Given the description of an element on the screen output the (x, y) to click on. 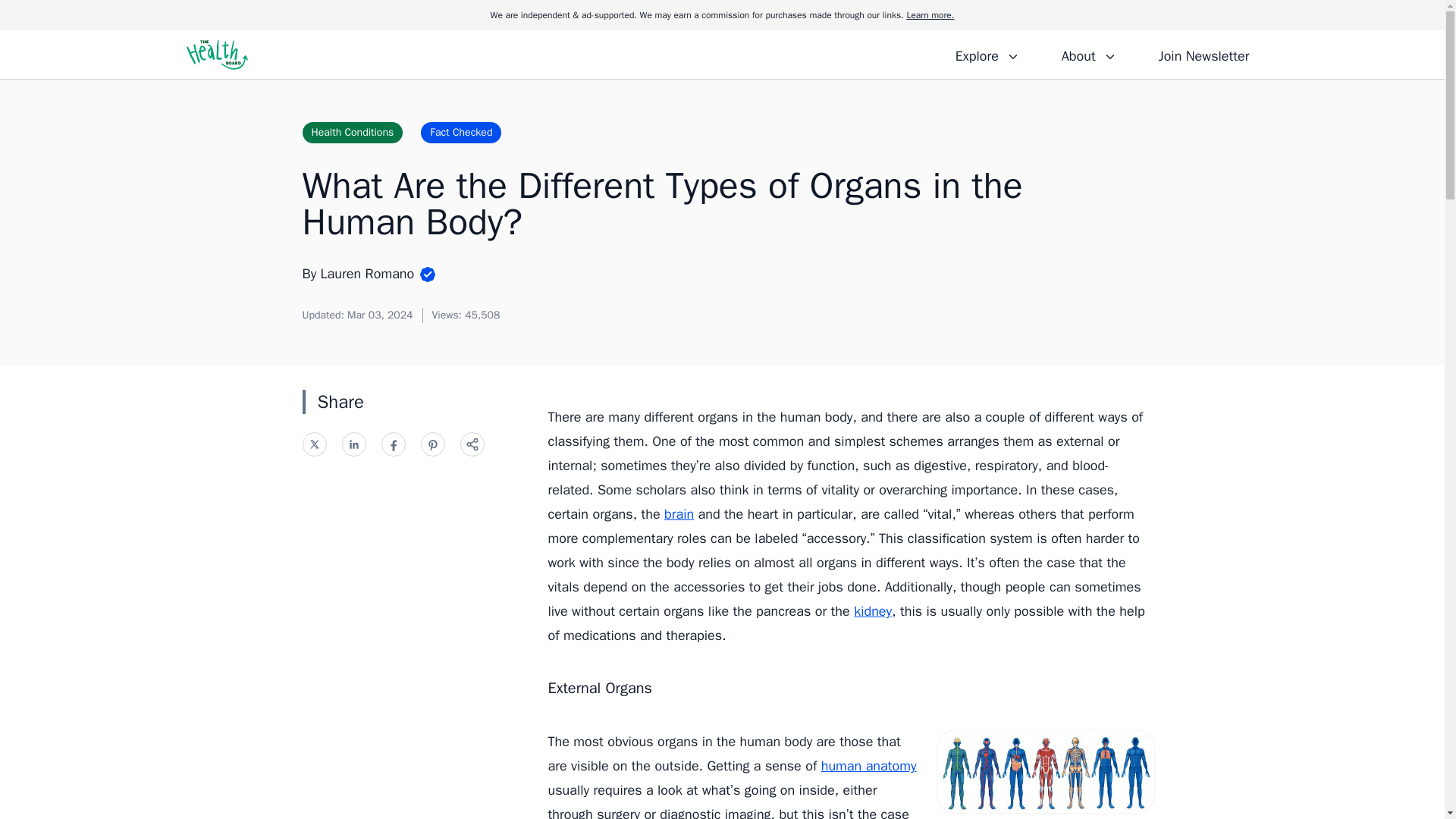
Fact Checked (460, 132)
Learn more. (929, 15)
kidney (872, 610)
brain (678, 514)
Health Conditions (352, 132)
Explore (986, 54)
Join Newsletter (1202, 54)
About (1088, 54)
human anatomy (869, 765)
